Given the description of an element on the screen output the (x, y) to click on. 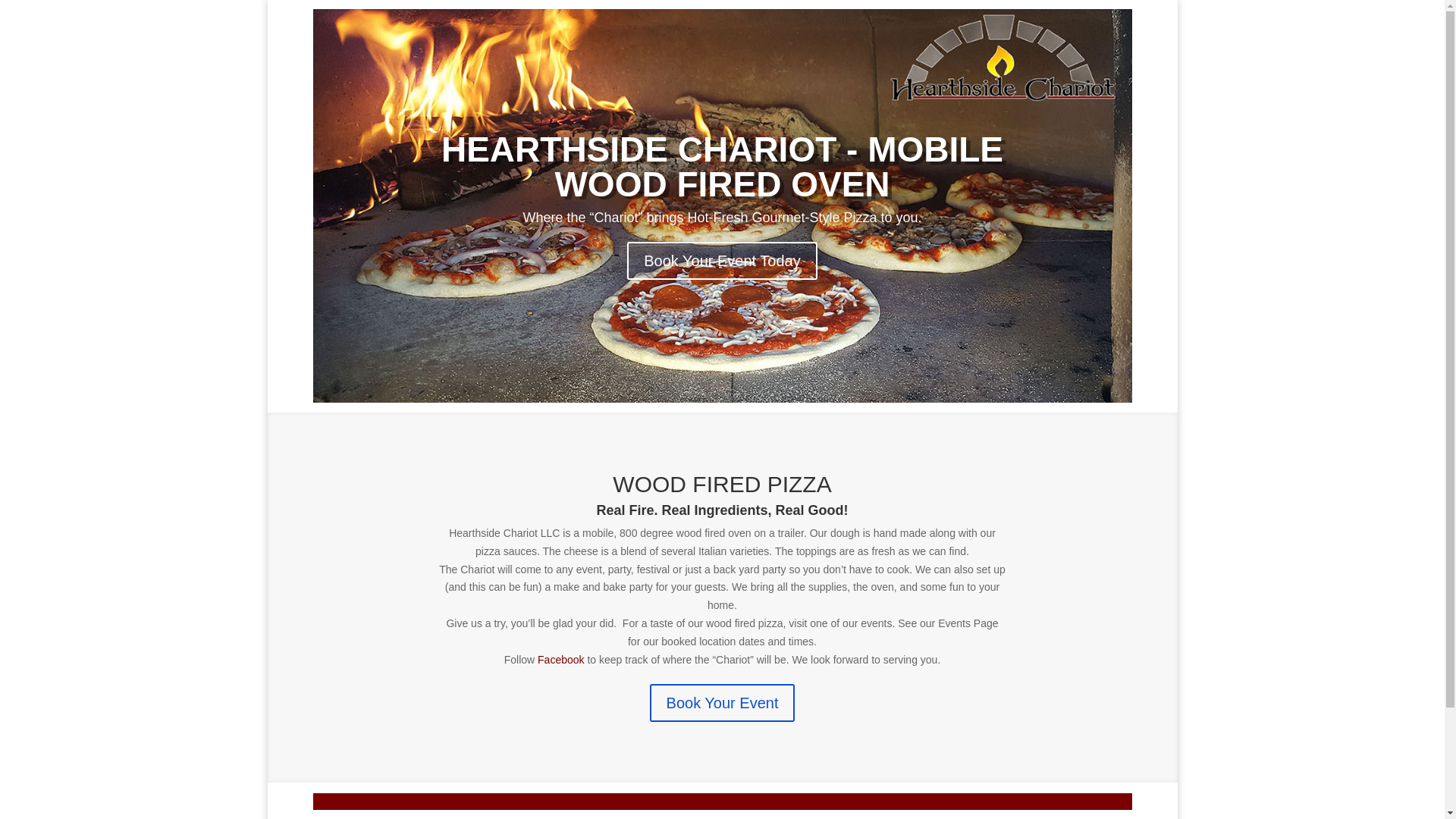
Facebook (560, 659)
Book Your Event (721, 702)
